Given the description of an element on the screen output the (x, y) to click on. 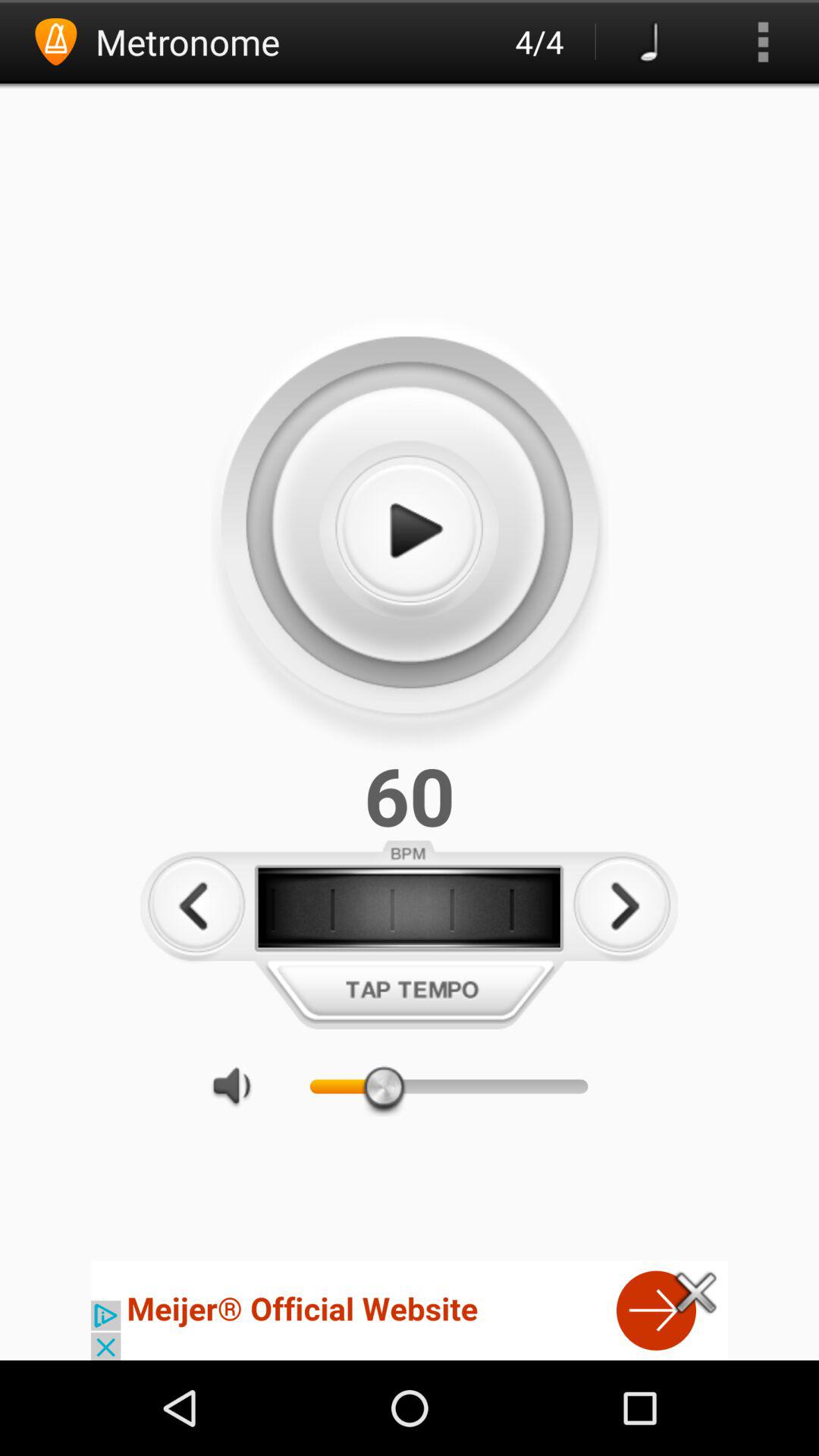
cancel (696, 1292)
